Given the description of an element on the screen output the (x, y) to click on. 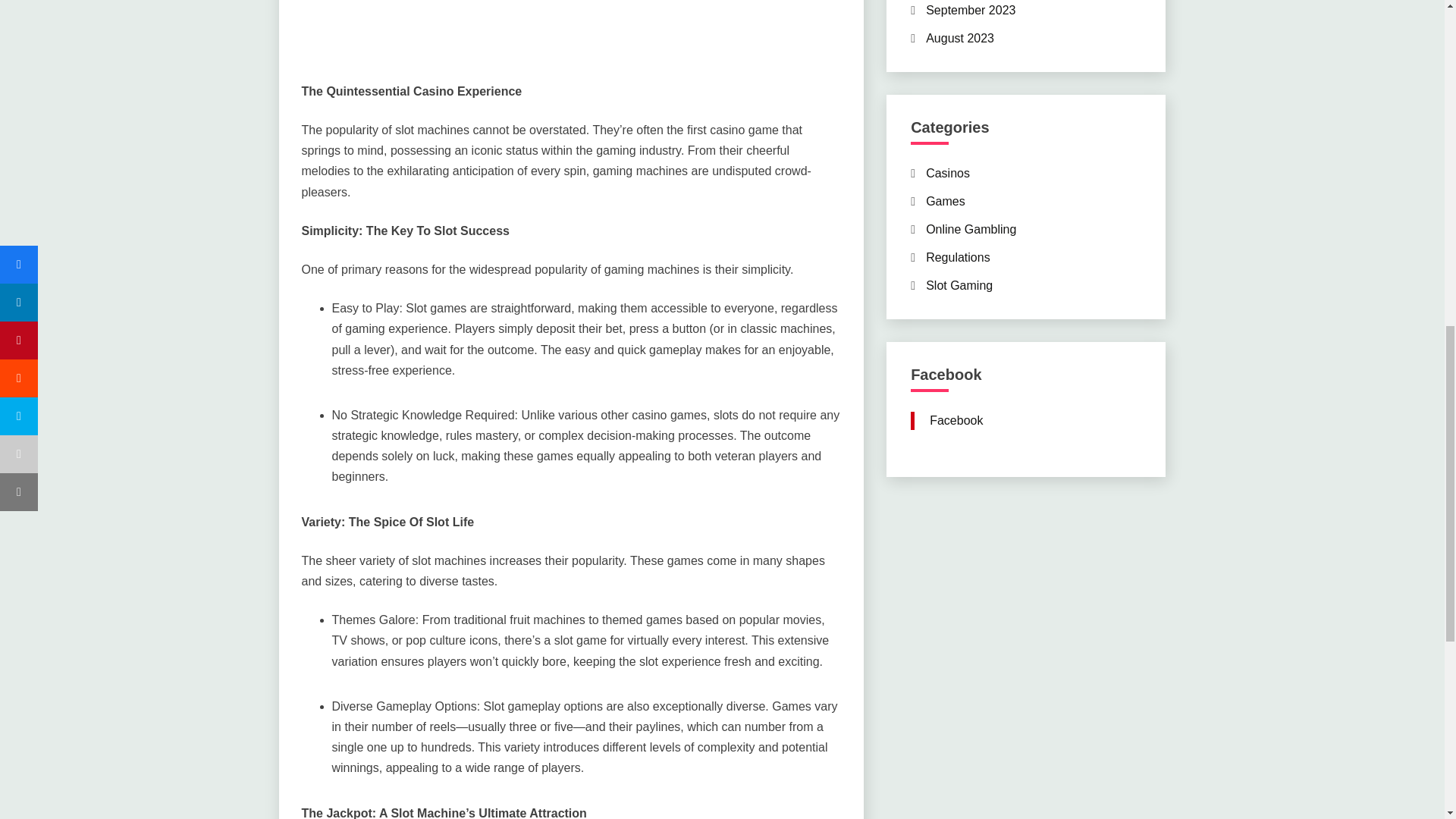
Casinos (947, 173)
Online Gambling (971, 228)
September 2023 (970, 10)
Facebook (956, 420)
Regulations (958, 256)
August 2023 (960, 38)
Slot Gaming (959, 285)
Games (945, 201)
